Given the description of an element on the screen output the (x, y) to click on. 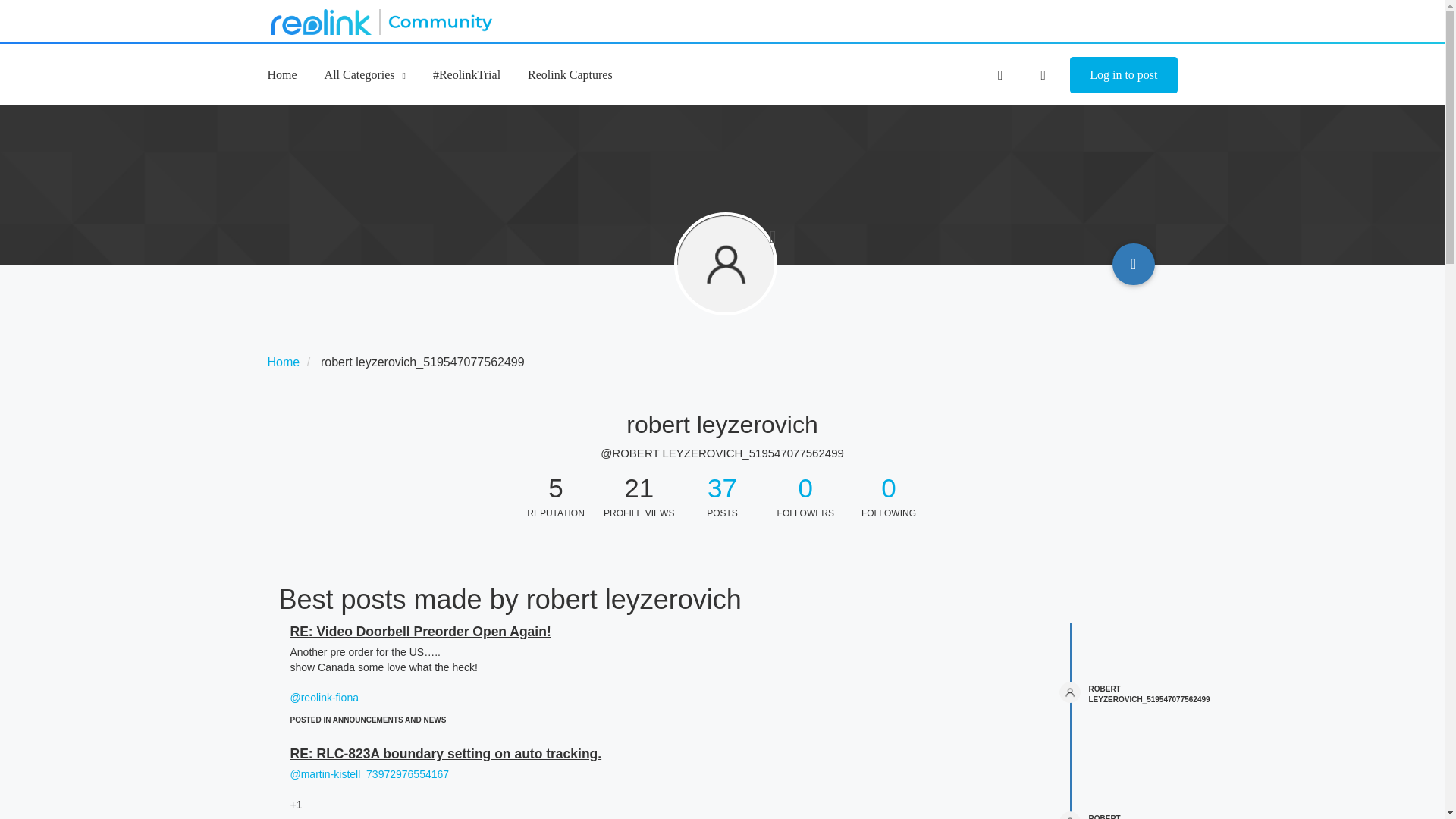
21 (639, 487)
Home (281, 74)
All Categories (365, 74)
37 (721, 487)
5 (556, 487)
Log in to post (1123, 75)
Reolink Captures (569, 74)
Home (282, 361)
37 (721, 487)
